Given the description of an element on the screen output the (x, y) to click on. 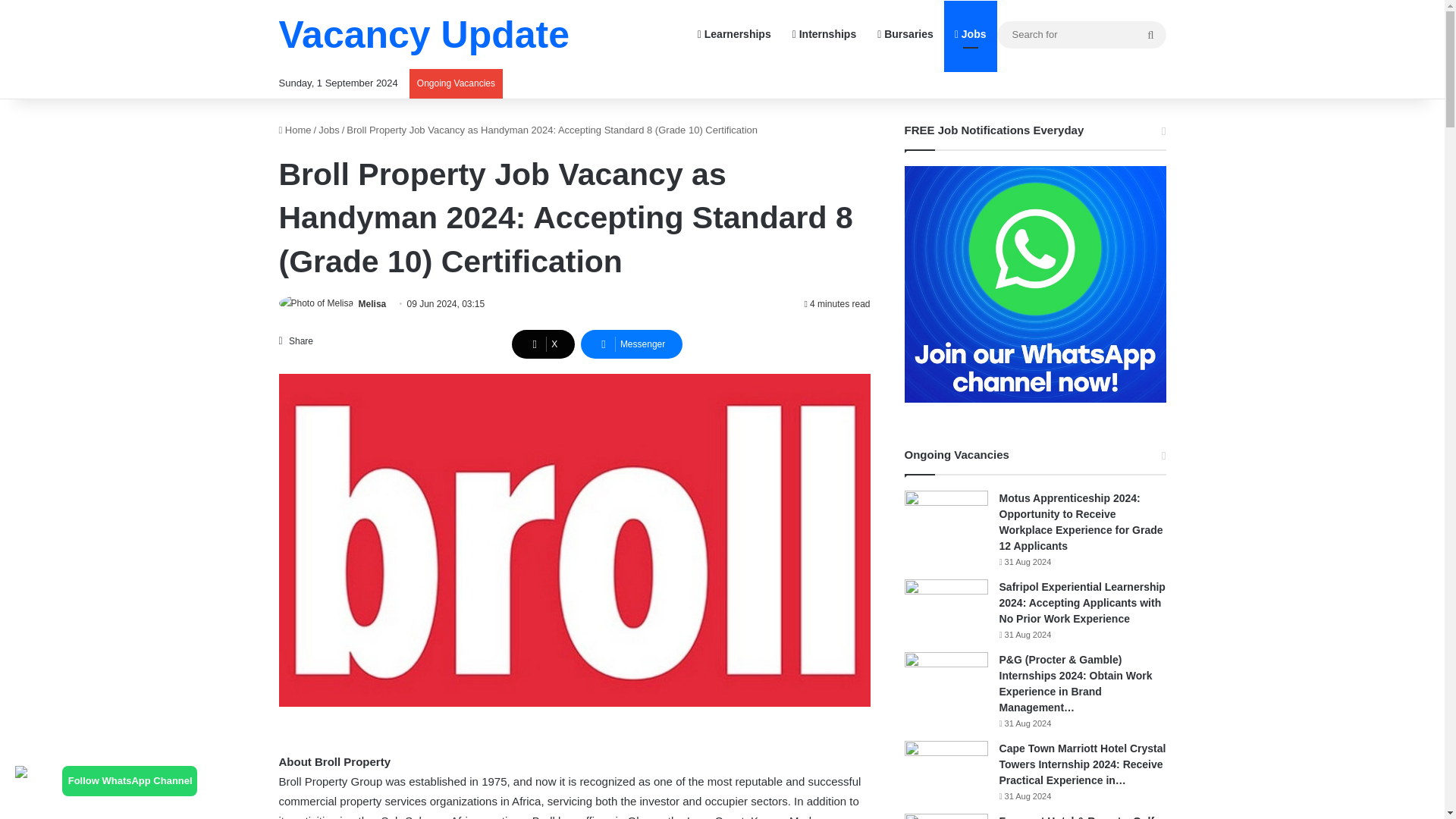
Internships (823, 33)
Melisa (372, 303)
Messenger (631, 344)
Messenger (631, 344)
Home (295, 129)
Learnerships (734, 33)
Jobs (328, 129)
X (543, 344)
Search for (1150, 34)
X (543, 344)
